Given the description of an element on the screen output the (x, y) to click on. 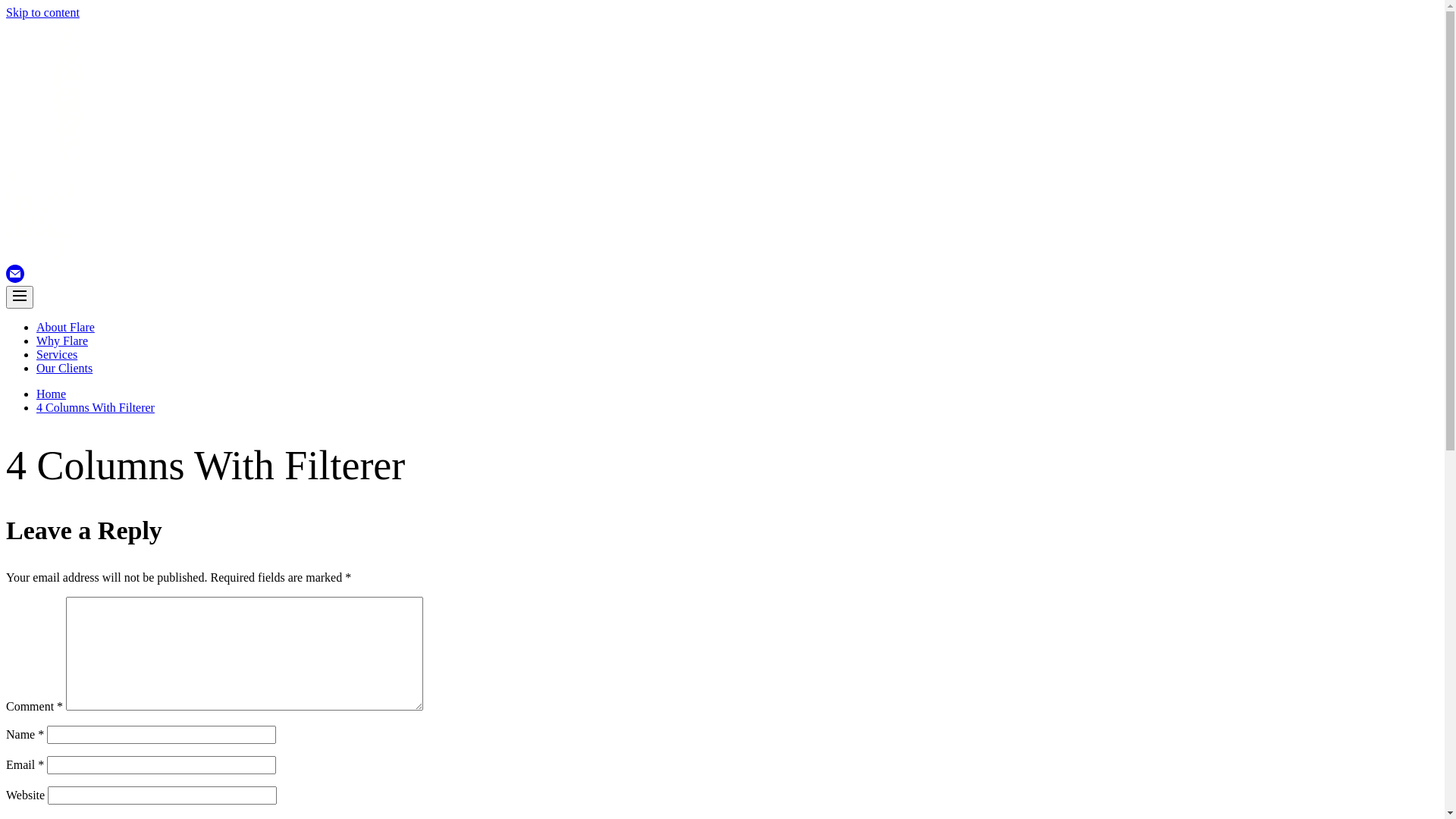
Home Element type: text (50, 393)
Skip to content Element type: text (42, 12)
Services Element type: text (56, 354)
About Flare Element type: text (65, 326)
Why Flare Element type: text (61, 340)
Our Clients Element type: text (64, 367)
4 Columns With Filterer Element type: text (95, 407)
